Given the description of an element on the screen output the (x, y) to click on. 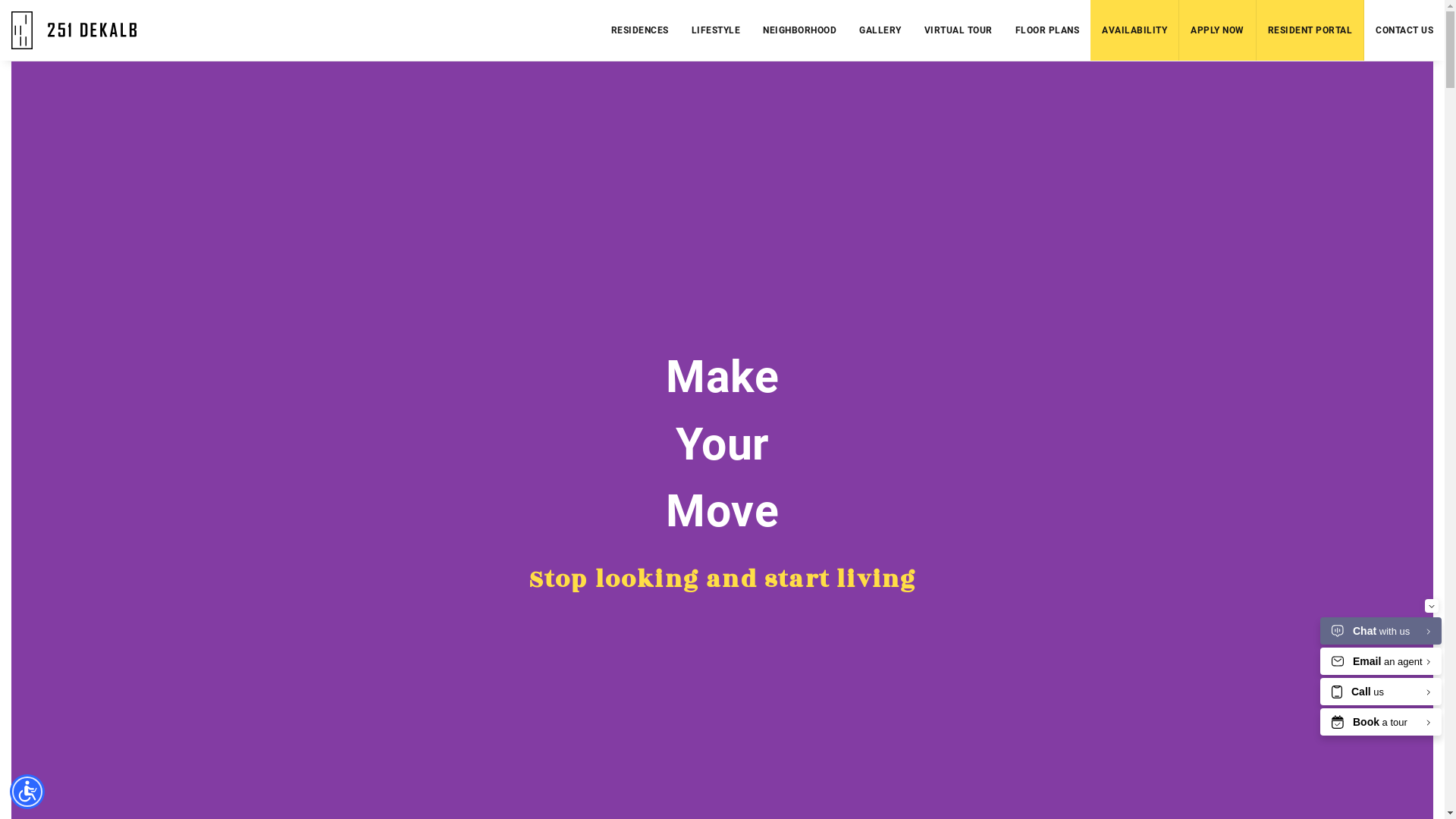
FLOOR PLANS Element type: text (1047, 30)
VIRTUAL TOUR Element type: text (958, 30)
RESIDENT PORTAL Element type: text (1309, 30)
CONTACT US Element type: text (1404, 30)
AVAILABILITY Element type: text (1134, 30)
NEIGHBORHOOD Element type: text (799, 30)
APPLY NOW Element type: text (1217, 30)
RESIDENCES Element type: text (639, 30)
LIFESTYLE Element type: text (715, 30)
GALLERY Element type: text (880, 30)
